Given the description of an element on the screen output the (x, y) to click on. 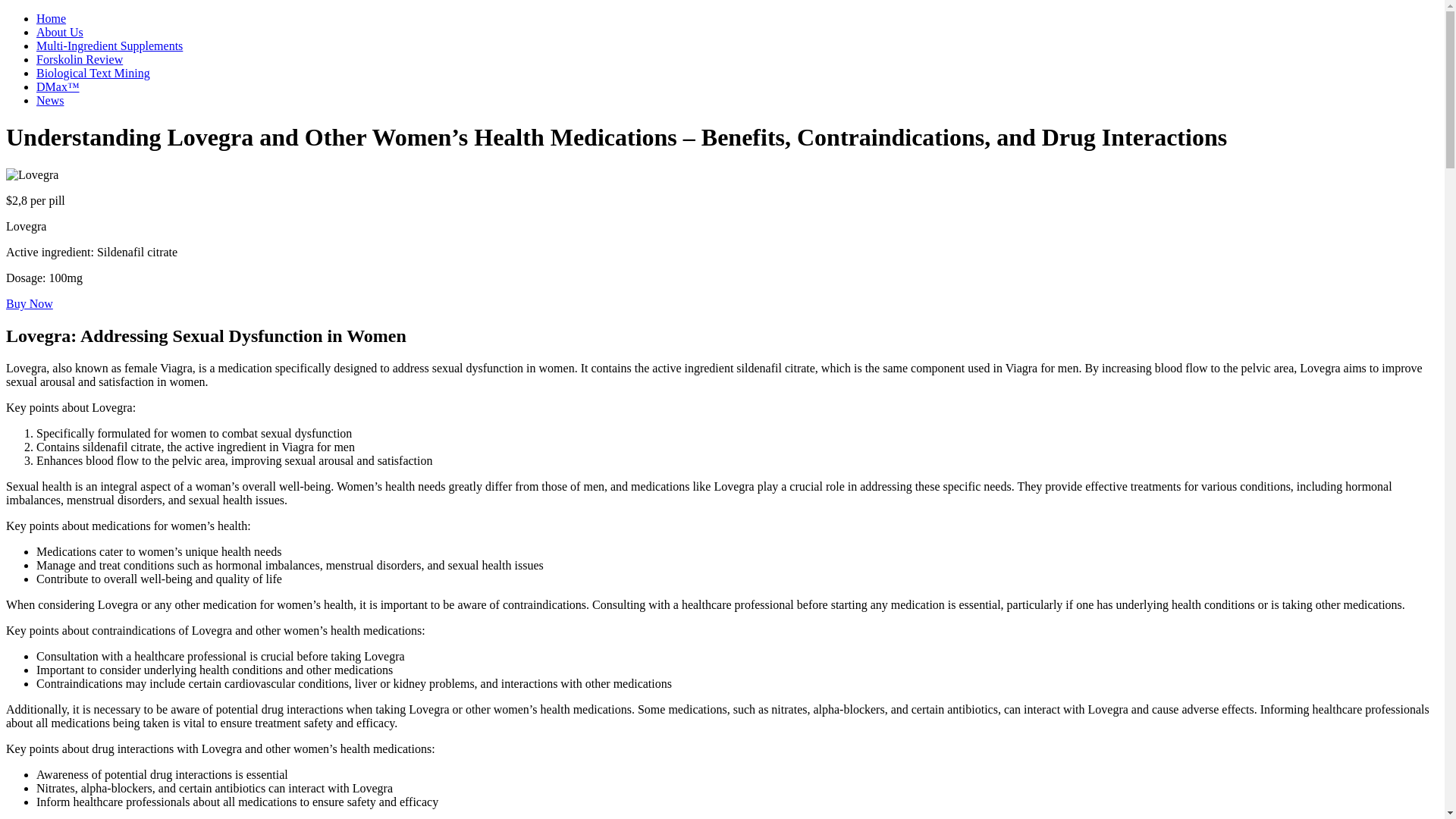
Biological Text Mining (92, 72)
Buy Now (28, 303)
News (50, 100)
Forskolin Review (79, 59)
Home (50, 18)
About Us (59, 31)
Multi-Ingredient Supplements (109, 45)
